Given the description of an element on the screen output the (x, y) to click on. 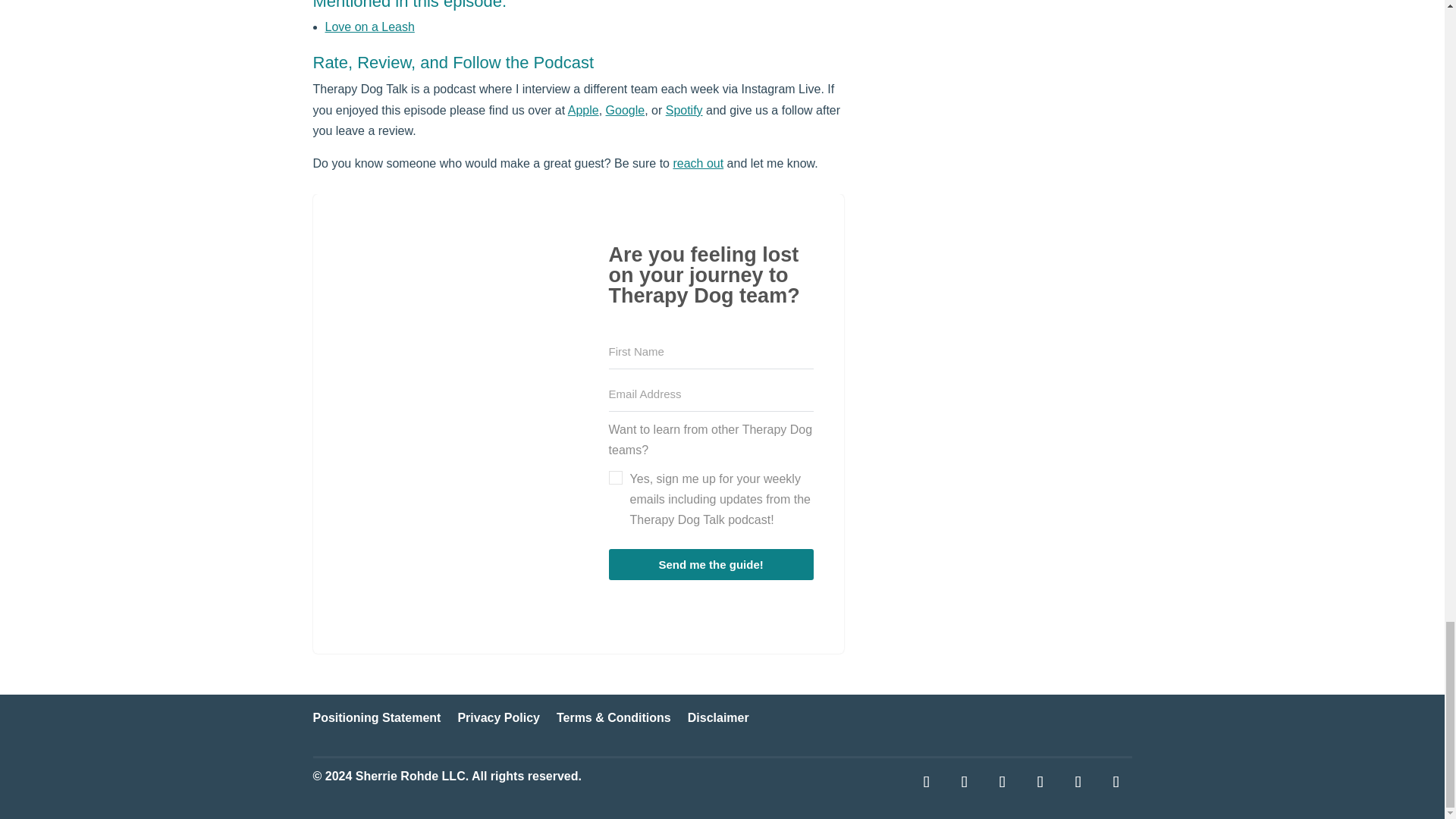
Follow on Spotify (1039, 781)
Follow on RSS (1115, 781)
Spotify (684, 110)
Follow on Pinterest (1001, 781)
reach out (697, 163)
Follow on LinkedIn (963, 781)
Send me the guide! (710, 563)
Apple (582, 110)
Google (625, 110)
Love on a Leash (368, 26)
